Given the description of an element on the screen output the (x, y) to click on. 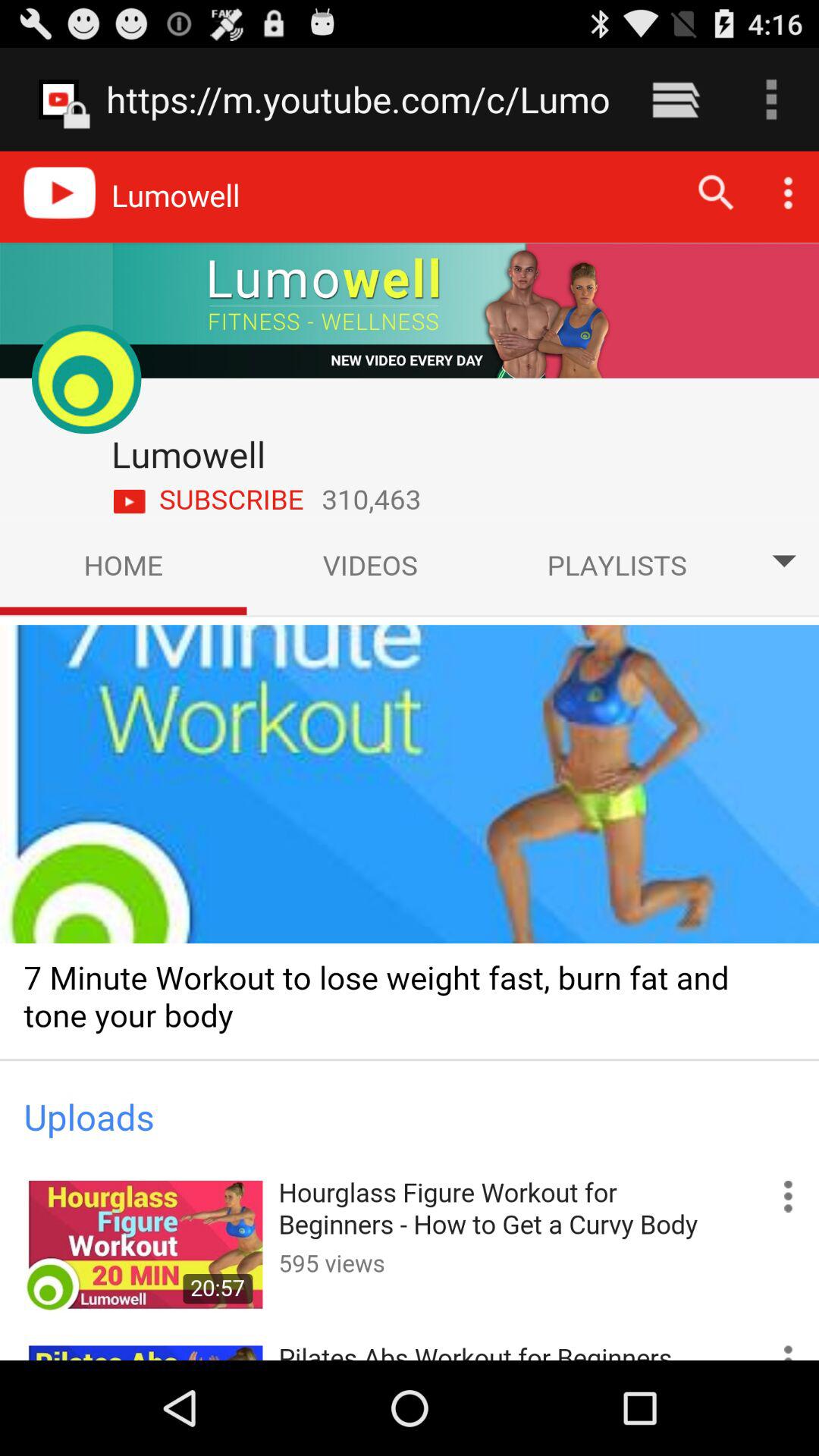
choose item below https m youtube icon (409, 755)
